Given the description of an element on the screen output the (x, y) to click on. 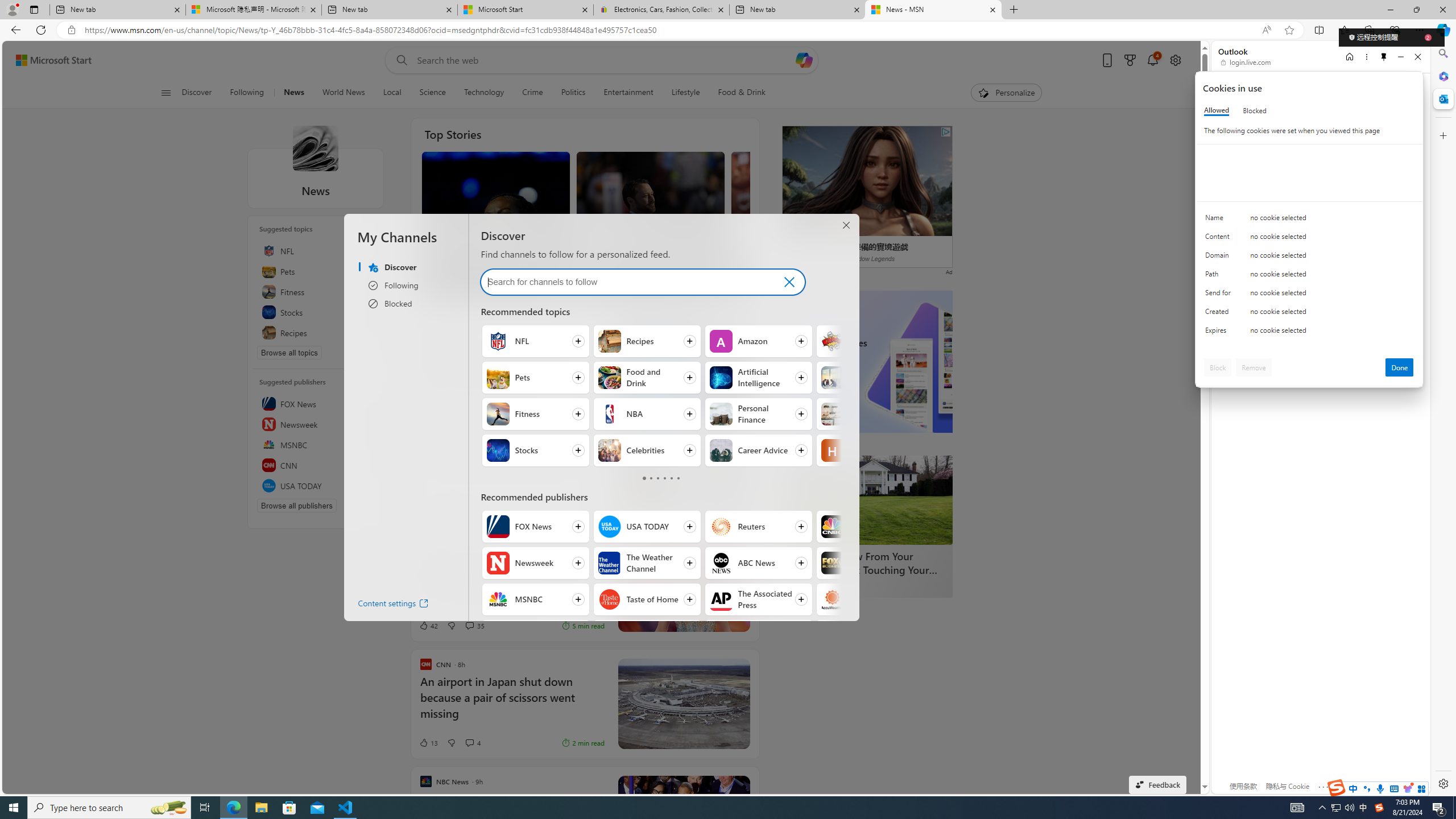
Microsoft 365 (1442, 76)
Microsoft Start (53, 60)
Block (1217, 367)
Personal Finance (720, 413)
Settings and more (Alt+F) (1419, 29)
Science (432, 92)
Career Advice (720, 449)
Open navigation menu (164, 92)
Local (392, 92)
USA TODAY (315, 485)
View comments 35 Comment (469, 624)
Artificial Intelligence (720, 377)
Follow Amazon (758, 341)
More options (1366, 56)
